Given the description of an element on the screen output the (x, y) to click on. 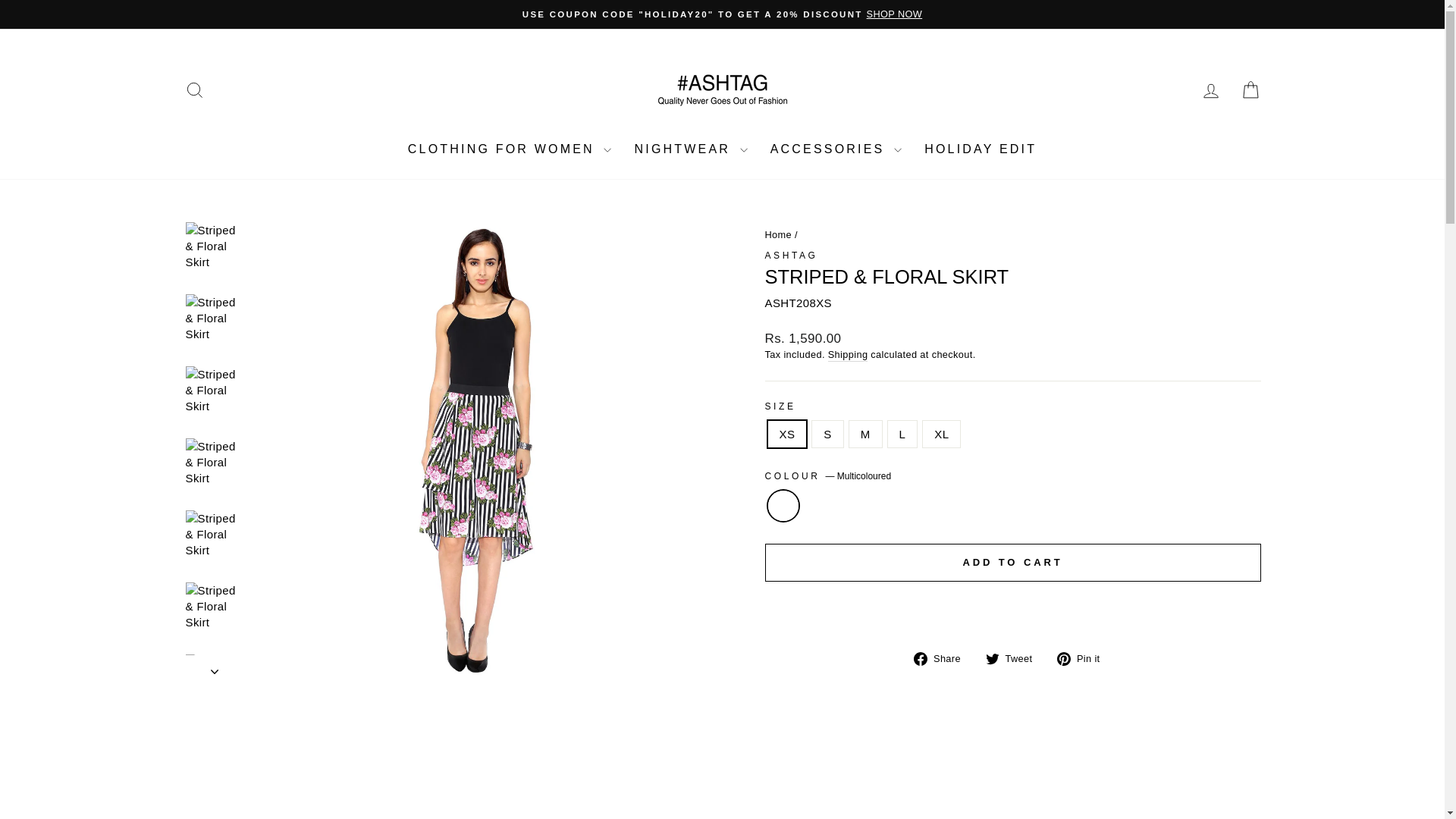
ICON-SEARCH (194, 89)
Ashtag (790, 255)
Tweet on Twitter (1014, 657)
ACCOUNT (1210, 90)
Back to the frontpage (778, 234)
Pin on Pinterest (1083, 657)
Share on Facebook (942, 657)
twitter (991, 658)
